Given the description of an element on the screen output the (x, y) to click on. 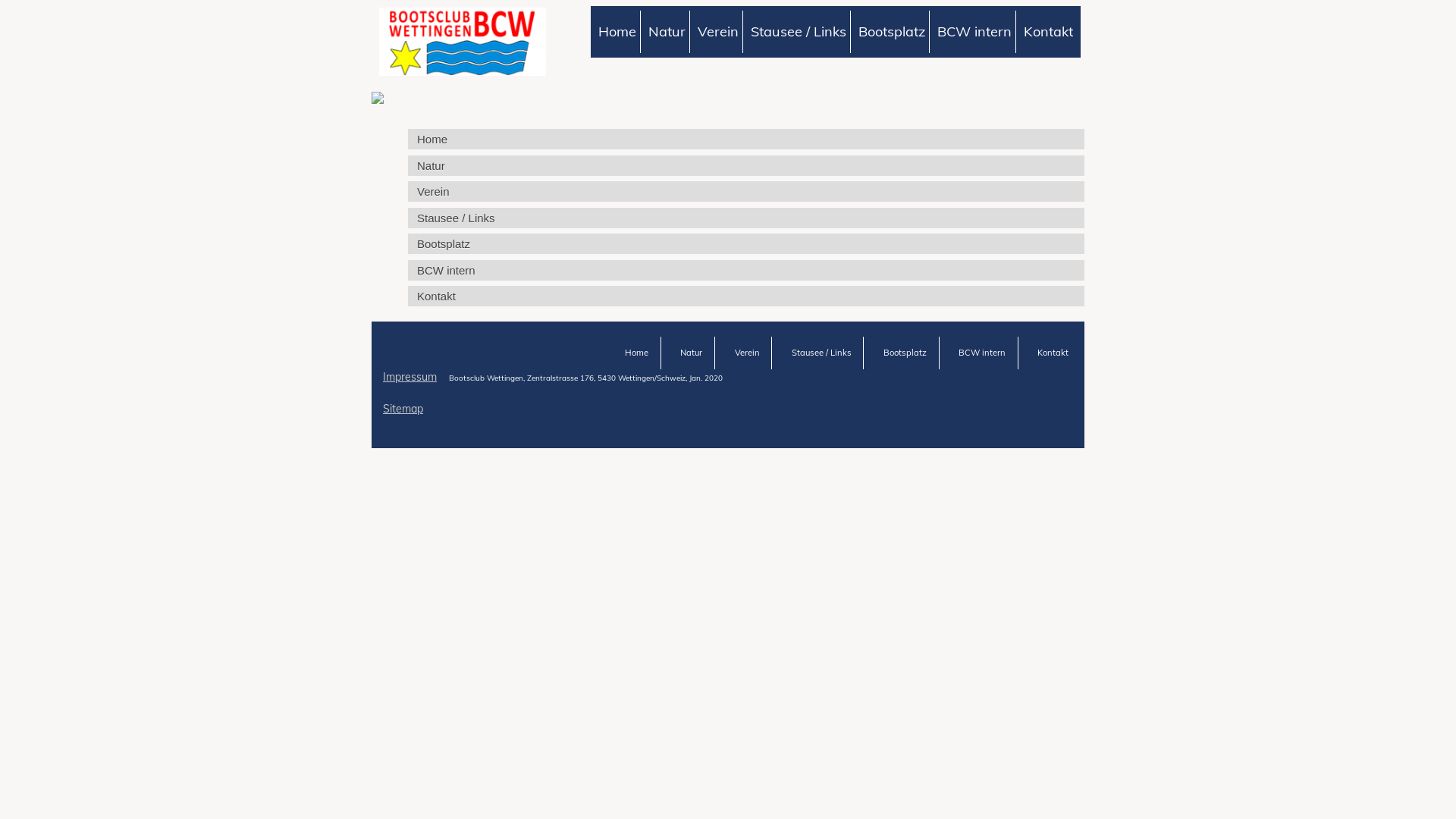
Verein Element type: text (717, 31)
BCW intern Element type: text (973, 31)
Kontakt Element type: text (1052, 352)
Sitemap Element type: text (402, 408)
Natur Element type: text (690, 352)
Bootsplatz Element type: text (904, 352)
Home Element type: text (745, 138)
BCW intern Element type: text (745, 270)
Natur Element type: text (745, 165)
Verein Element type: text (747, 352)
Verein Element type: text (745, 191)
Home Element type: text (636, 352)
Bootsplatz Element type: text (891, 31)
Stausee / Links Element type: text (821, 352)
Natur Element type: text (666, 31)
Impressum Element type: text (409, 376)
Bootsplatz Element type: text (745, 243)
Stausee / Links Element type: text (745, 217)
Stausee / Links Element type: text (797, 31)
Kontakt Element type: text (745, 295)
BCW intern Element type: text (981, 352)
Kontakt Element type: text (1047, 31)
Home Element type: text (616, 31)
